Given the description of an element on the screen output the (x, y) to click on. 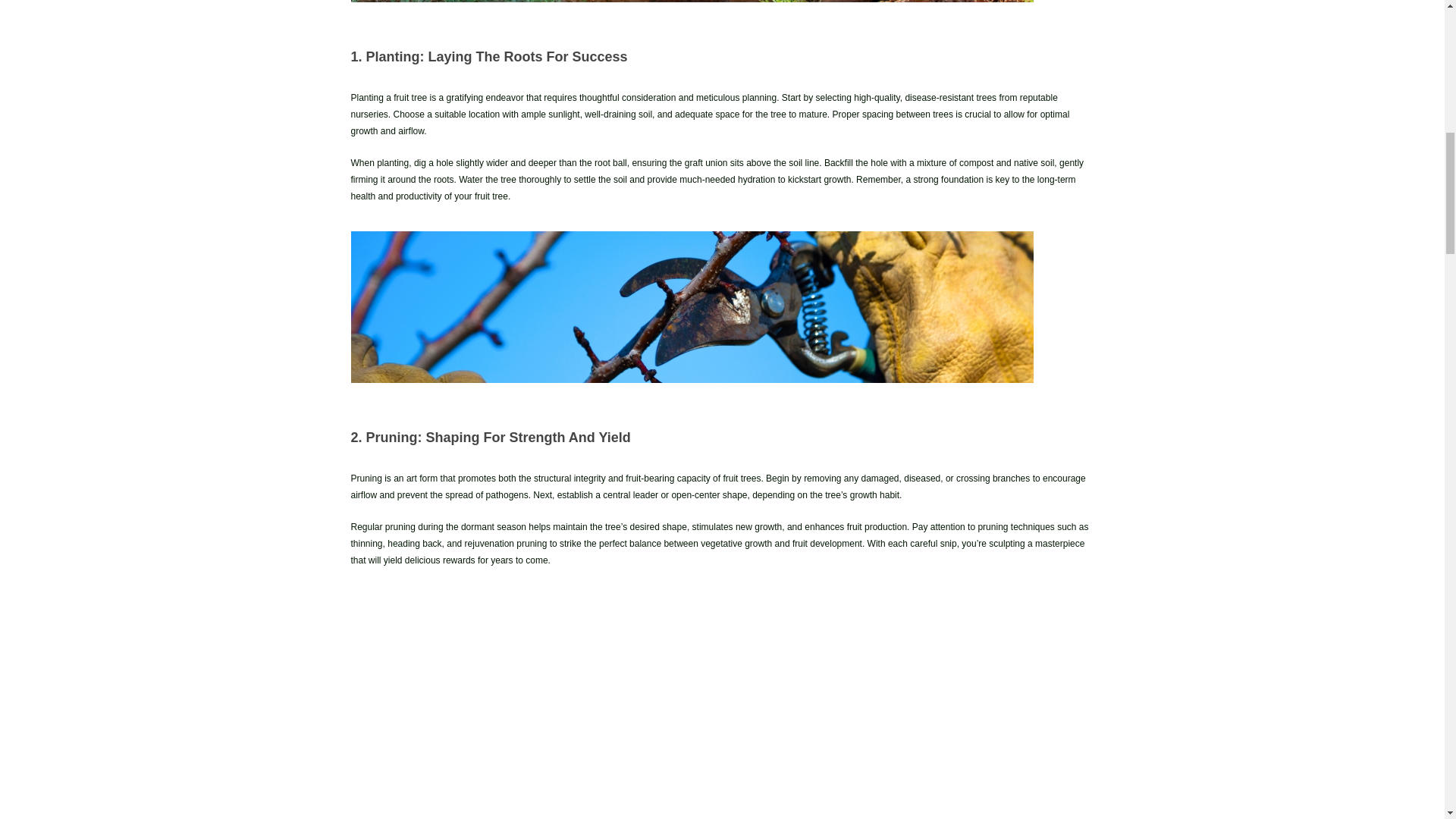
Pruning A Tree (691, 306)
